Given the description of an element on the screen output the (x, y) to click on. 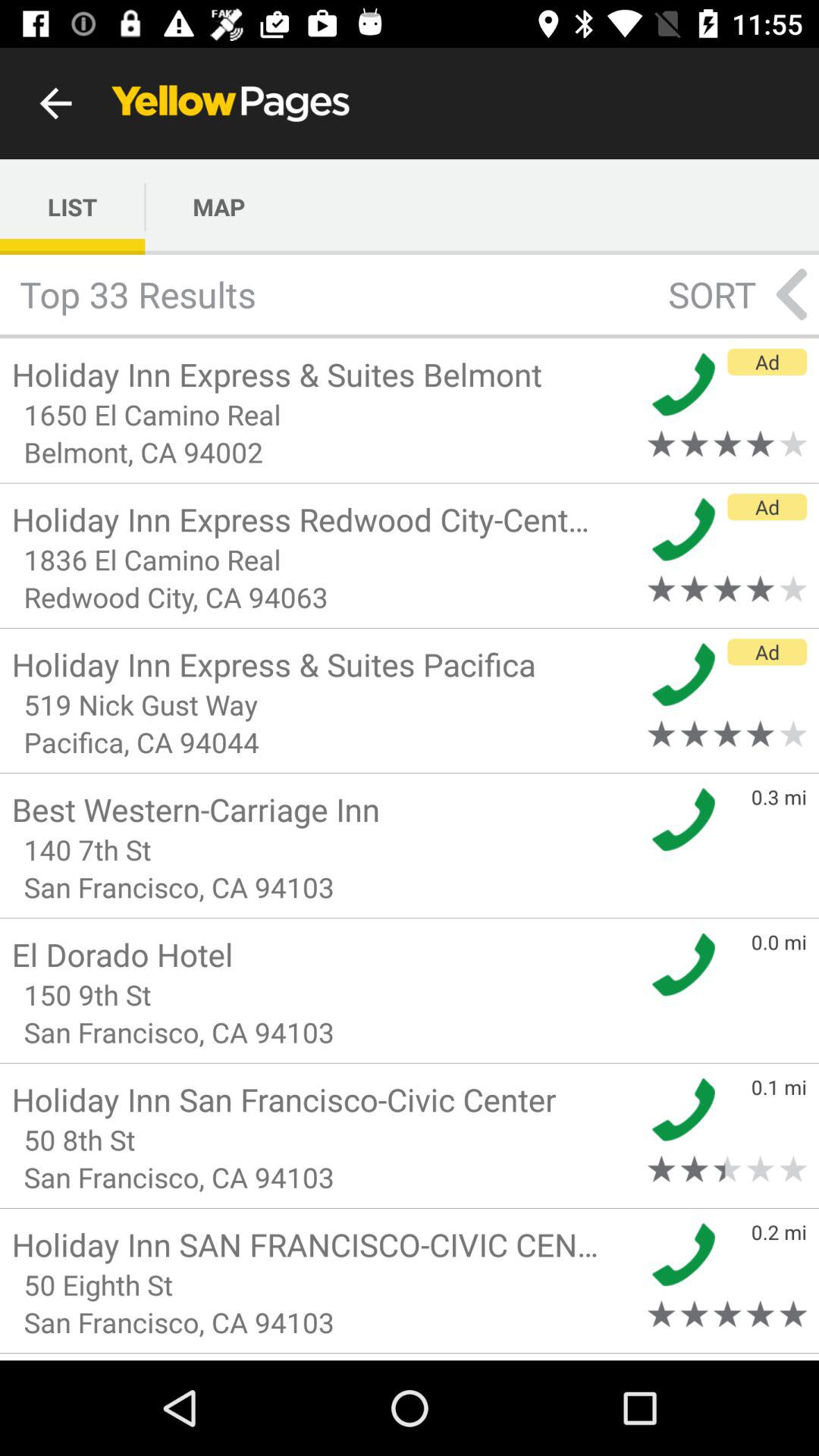
tap 150 9th st icon (324, 994)
